Given the description of an element on the screen output the (x, y) to click on. 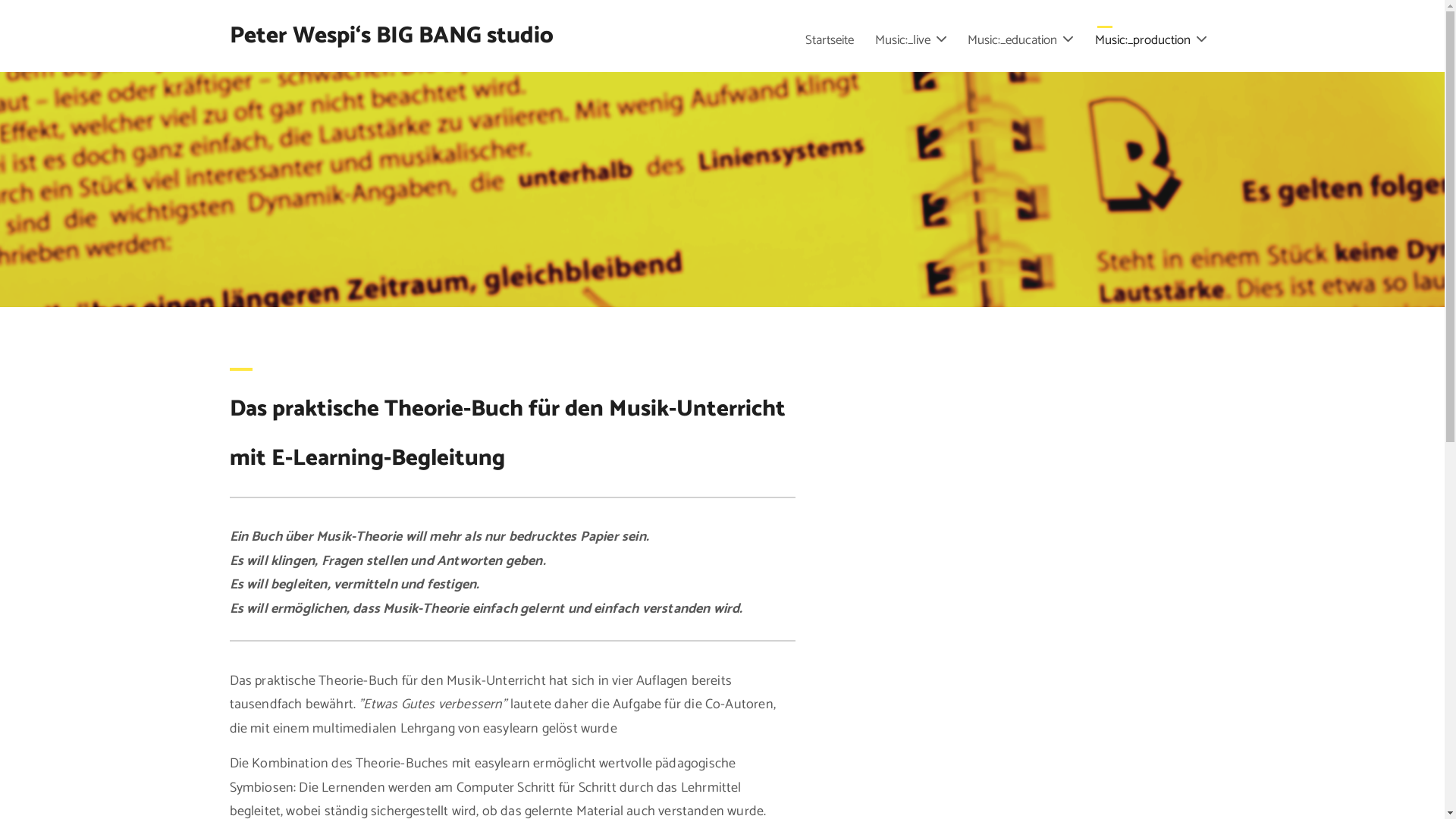
Startseite Element type: text (829, 40)
